Given the description of an element on the screen output the (x, y) to click on. 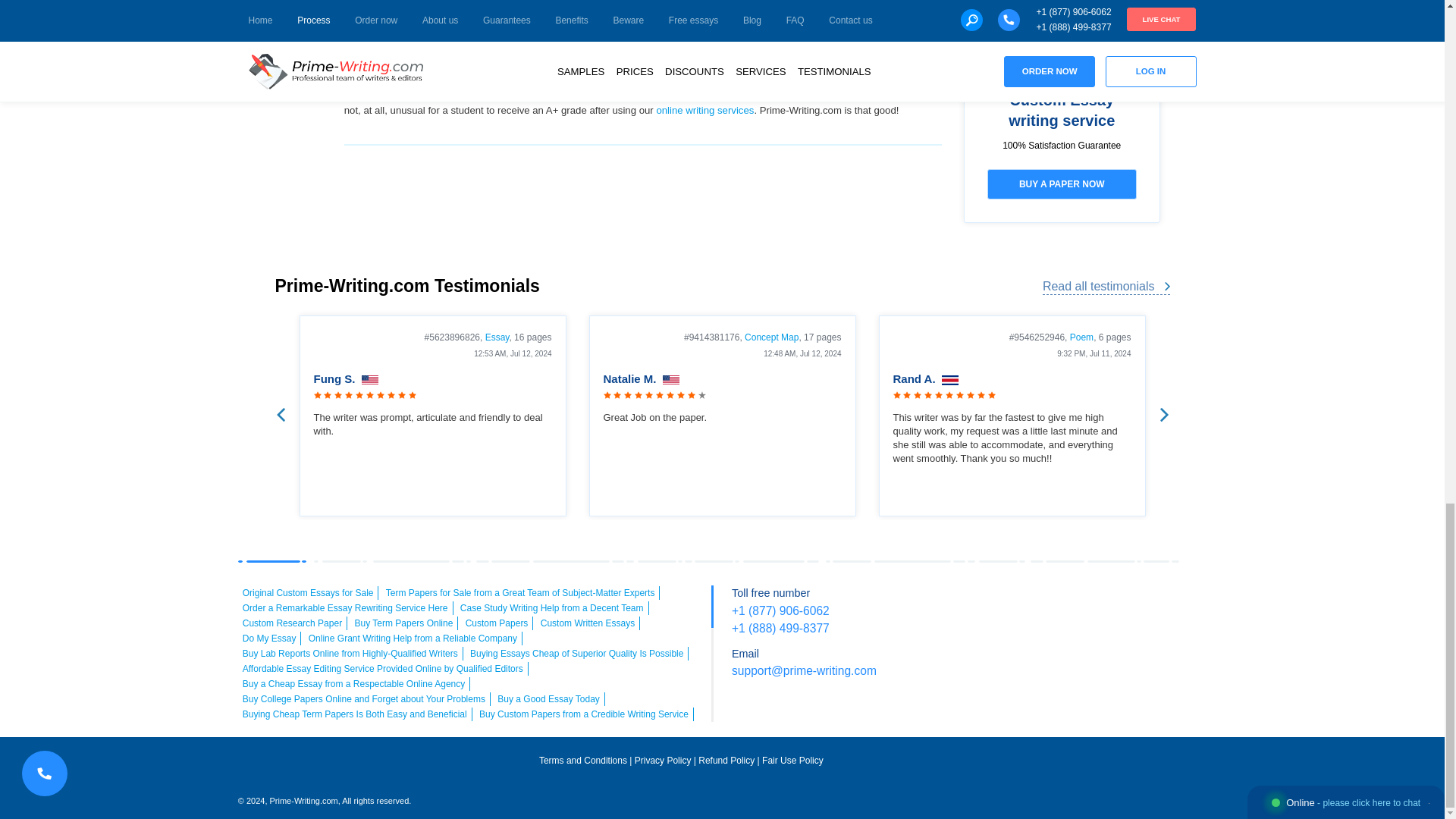
Credit cards by JCB (1112, 632)
Credit cards by Diners Club (1069, 632)
Credit and debit cards by Visa (1005, 602)
Credit cards by Discover (1176, 602)
Apple pay (1133, 602)
Credit and debit cards by MasterCard (1048, 602)
USA (670, 380)
USA (369, 380)
Credit cards by American Express (1091, 602)
Costa Rica (950, 380)
